Given the description of an element on the screen output the (x, y) to click on. 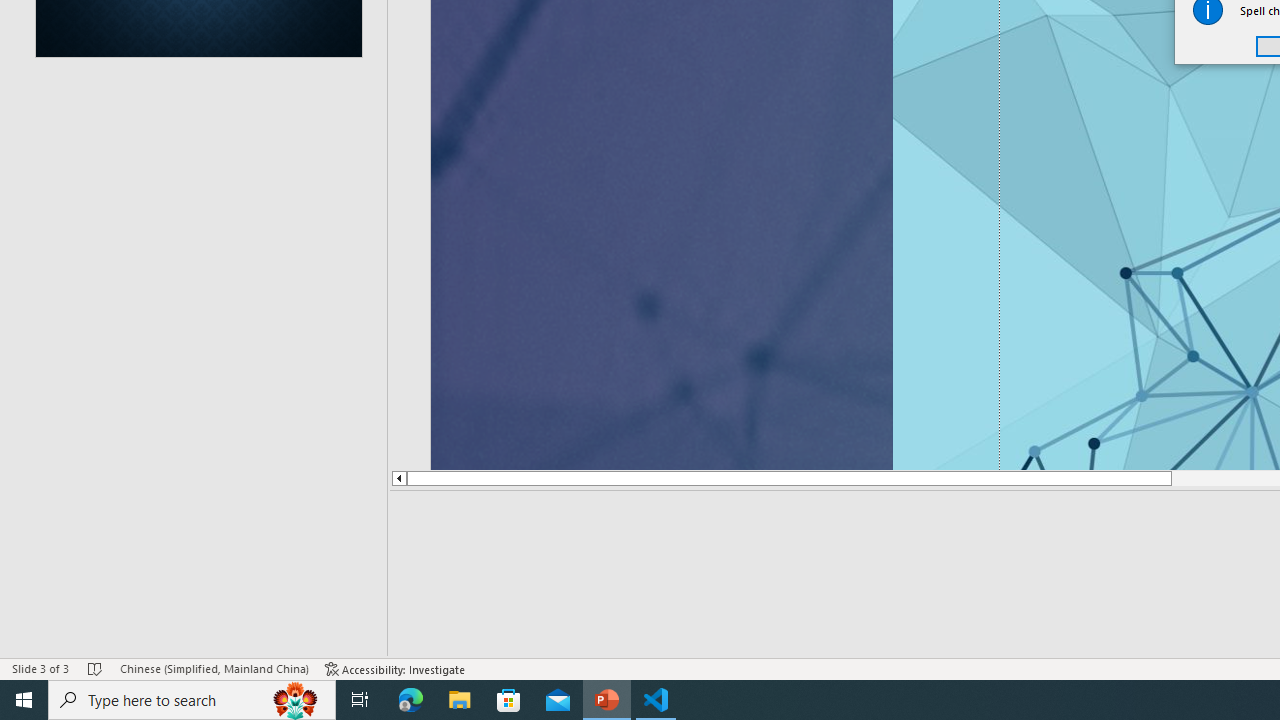
Visual Studio Code - 1 running window (656, 699)
Type here to search (191, 699)
Start (24, 699)
File Explorer (460, 699)
Task View (359, 699)
Microsoft Store (509, 699)
PowerPoint - 1 running window (607, 699)
Microsoft Edge (411, 699)
Search highlights icon opens search home window (295, 699)
